Given the description of an element on the screen output the (x, y) to click on. 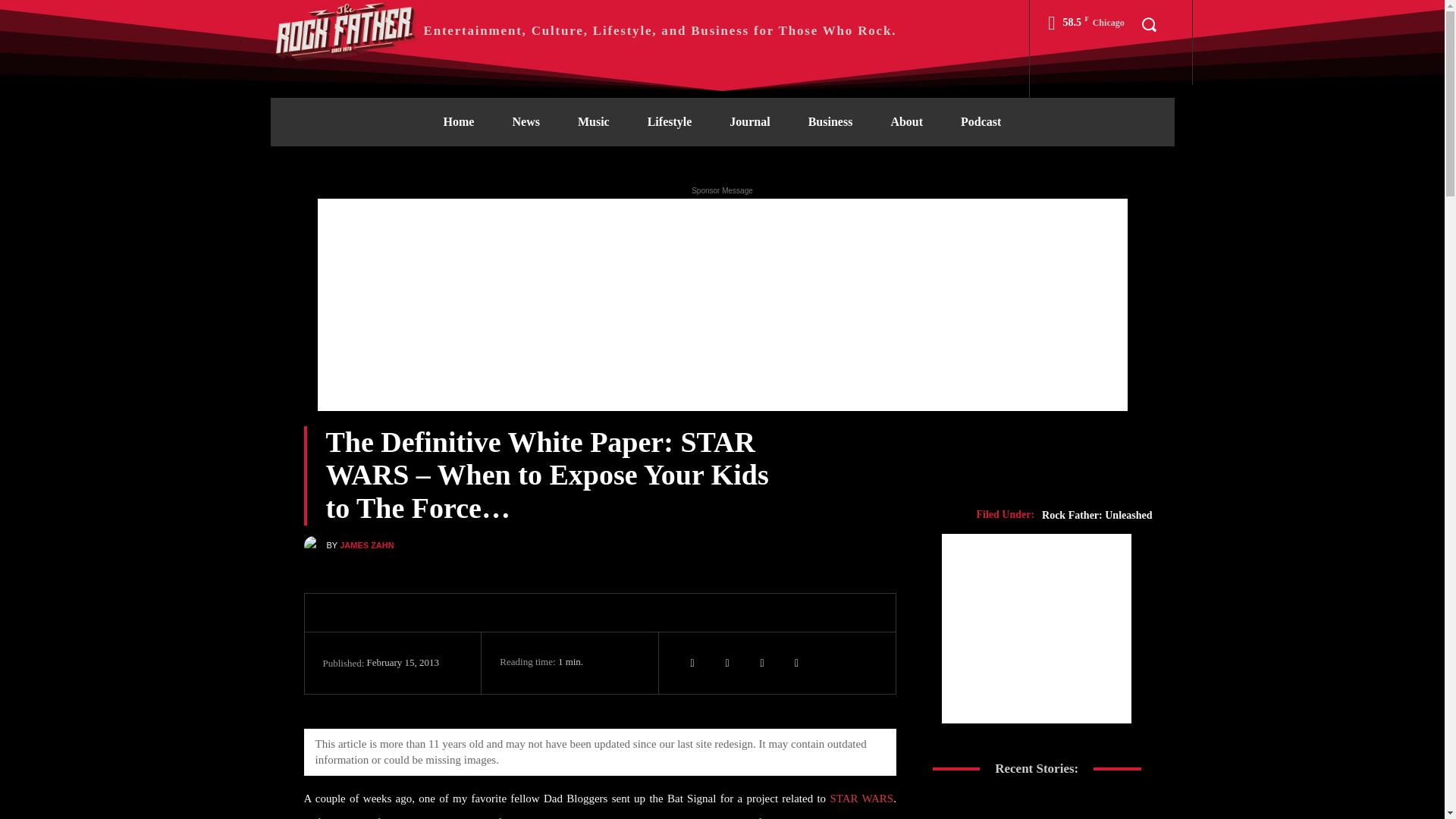
Linkedin (726, 662)
James Zahn (314, 545)
Lifestyle (669, 121)
News (525, 121)
Twitter (692, 662)
The Rock Father (582, 30)
Home (459, 121)
ReddIt (796, 662)
The Rock Father (345, 30)
Facebook (761, 662)
Music (593, 121)
